Given the description of an element on the screen output the (x, y) to click on. 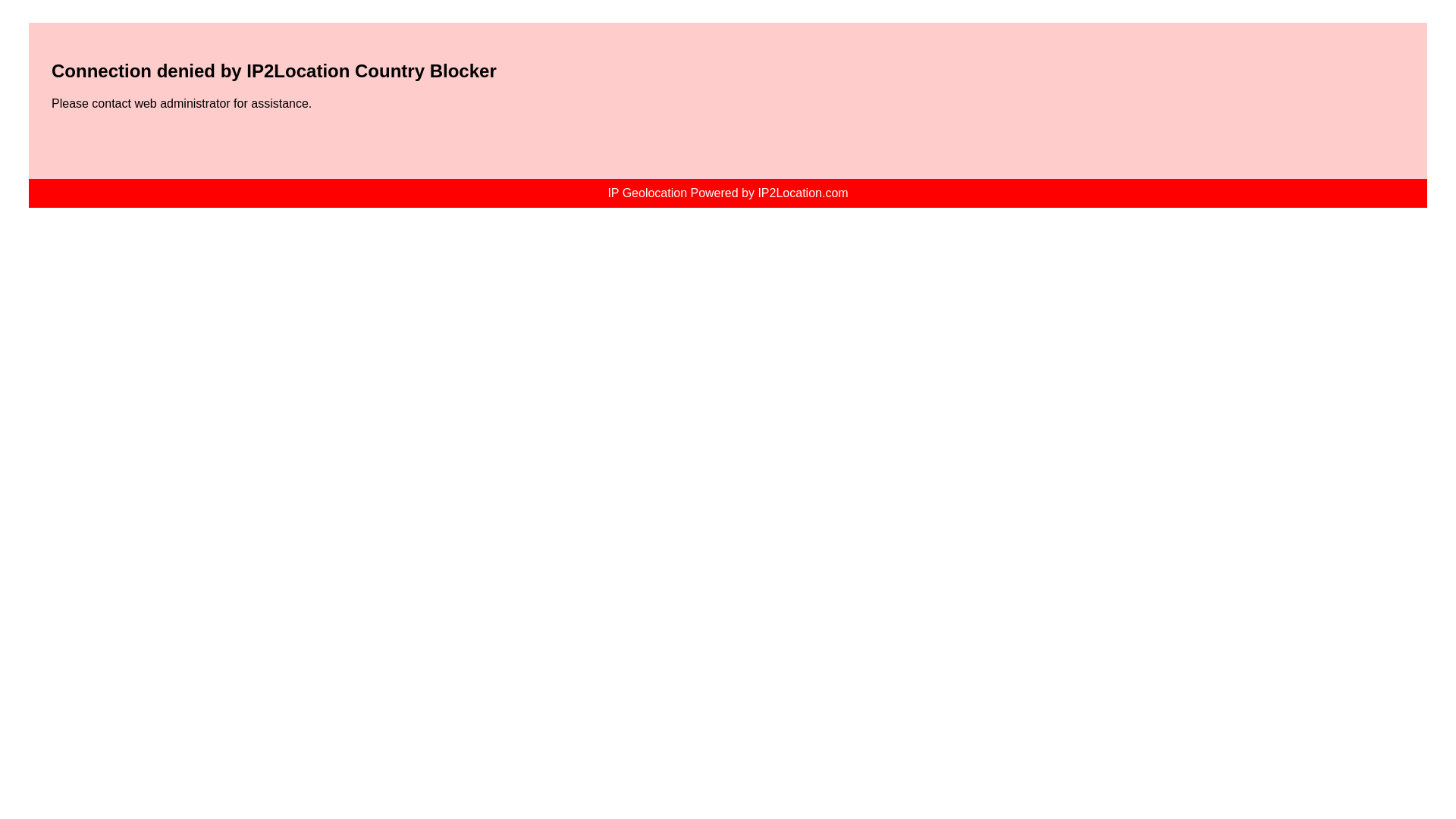
IP Geolocation Powered by IP2Location.com (727, 192)
